Given the description of an element on the screen output the (x, y) to click on. 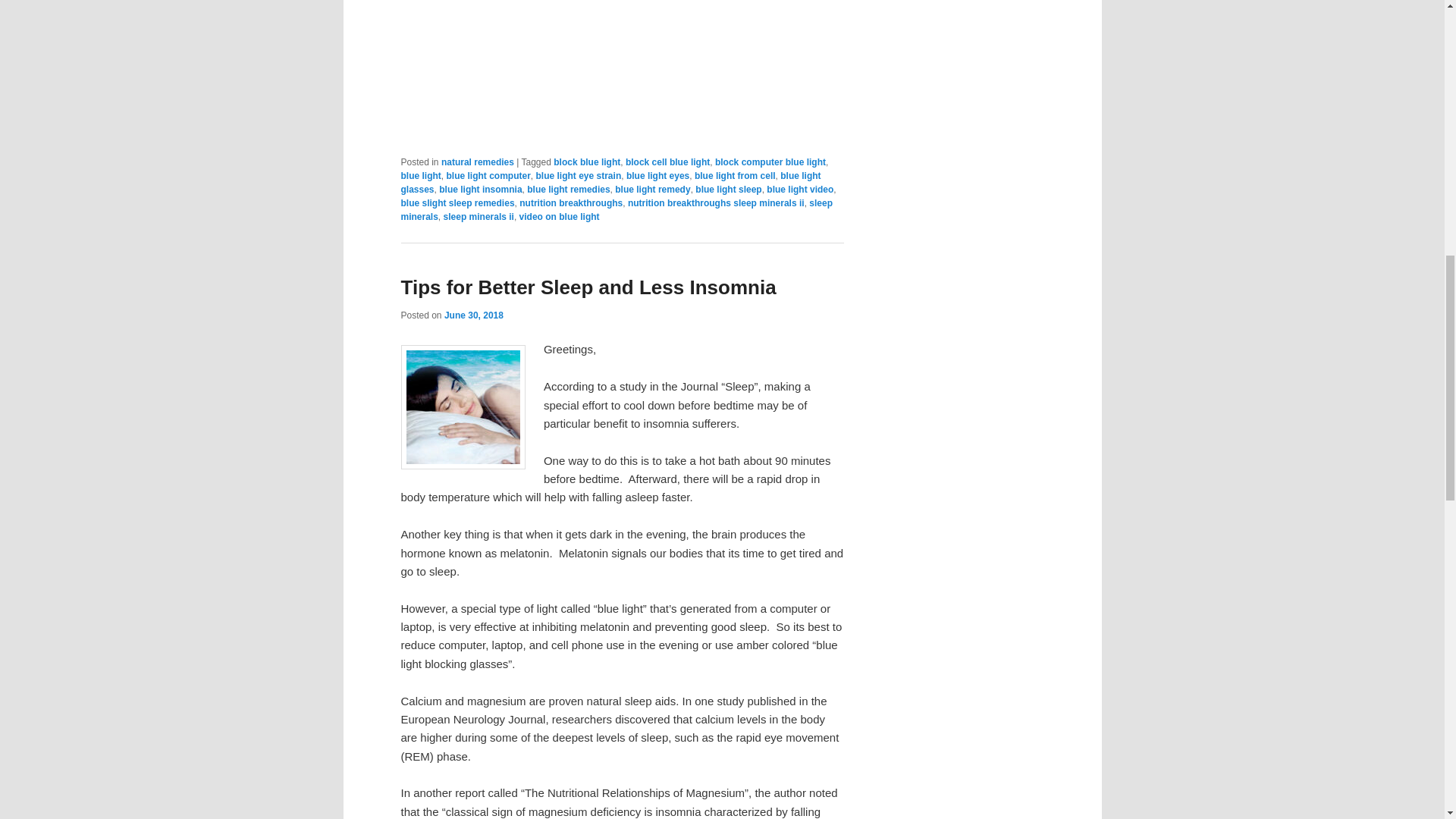
blue light remedy (652, 189)
blue slight sleep remedies (456, 203)
blue light eyes (657, 175)
blue light eye strain (578, 175)
sleep minerals ii (478, 216)
sleep minerals (615, 209)
blue light glasses (610, 182)
block computer blue light (769, 162)
blue light video (799, 189)
block cell blue light (668, 162)
blue light remedies (568, 189)
blue light from cell (735, 175)
8:30 pm (473, 315)
blue light computer (487, 175)
block blue light (586, 162)
